Given the description of an element on the screen output the (x, y) to click on. 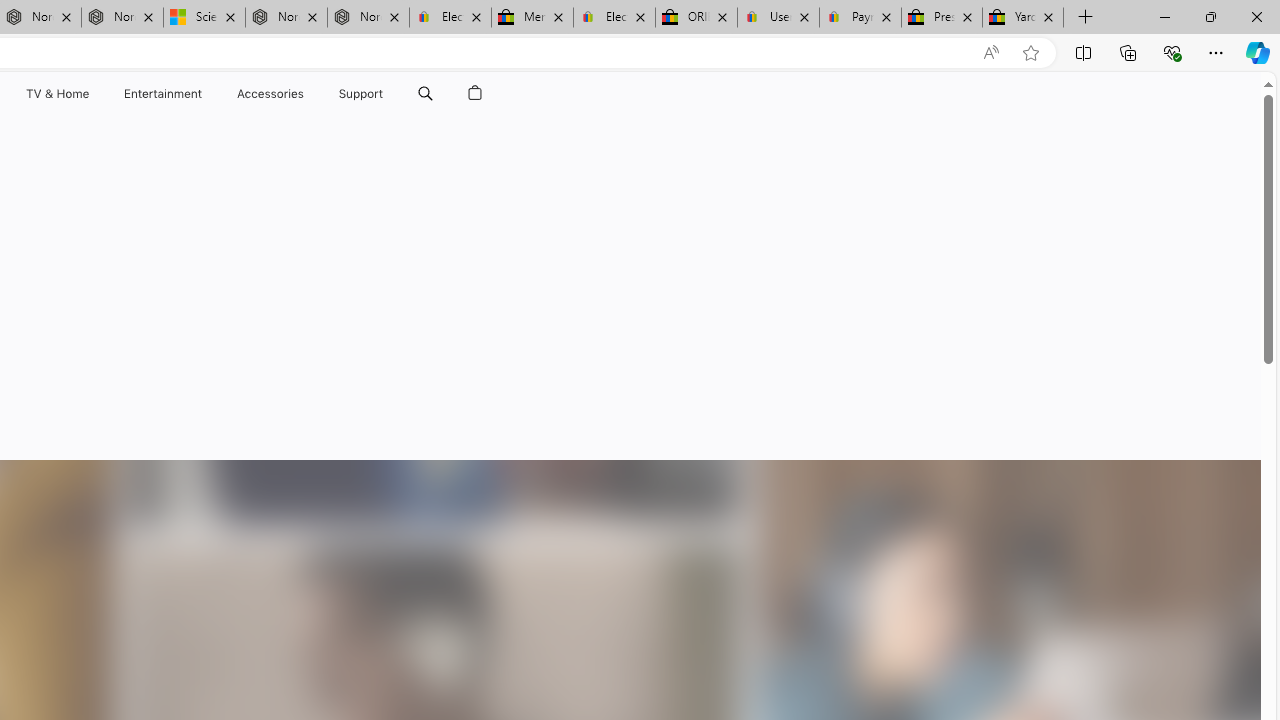
TV & Home (56, 93)
Accessories (269, 93)
Payments Terms of Use | eBay.com (860, 17)
TV and Home (56, 93)
Accessories (269, 93)
User Privacy Notice | eBay (778, 17)
